Given the description of an element on the screen output the (x, y) to click on. 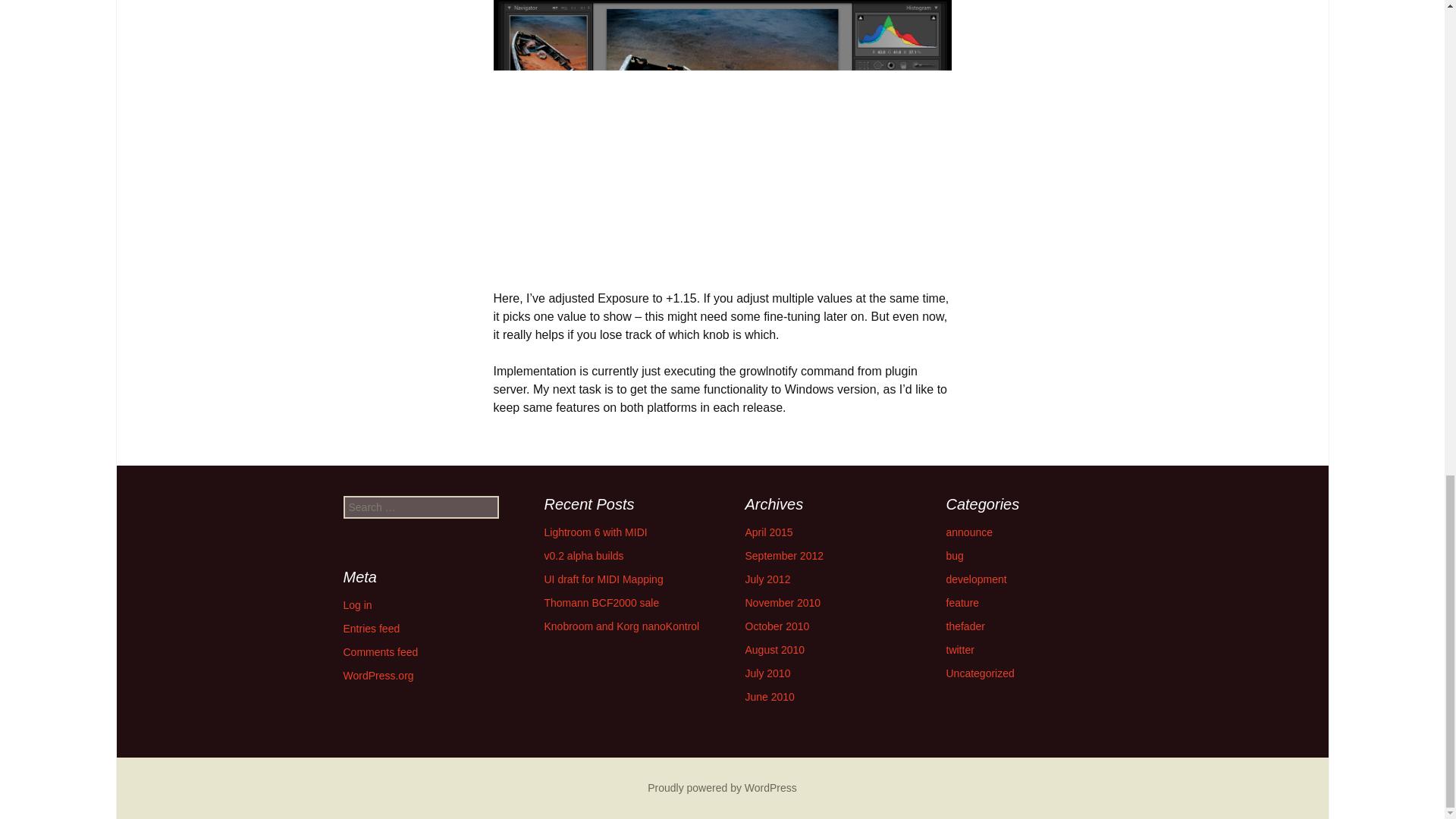
October 2010 (776, 625)
September 2012 (784, 555)
Lightroom with Growl notification (721, 134)
July 2012 (767, 579)
June 2010 (768, 696)
August 2010 (774, 649)
Version schedule and release announcements (969, 532)
Lightroom 6 with MIDI (595, 532)
Knobroom and Korg nanoKontrol (622, 625)
announce (969, 532)
Announcement of some unpleasant surprise in given version (954, 555)
November 2010 (782, 603)
v0.2 alpha builds (584, 555)
April 2015 (768, 532)
UI draft for MIDI Mapping (603, 579)
